Given the description of an element on the screen output the (x, y) to click on. 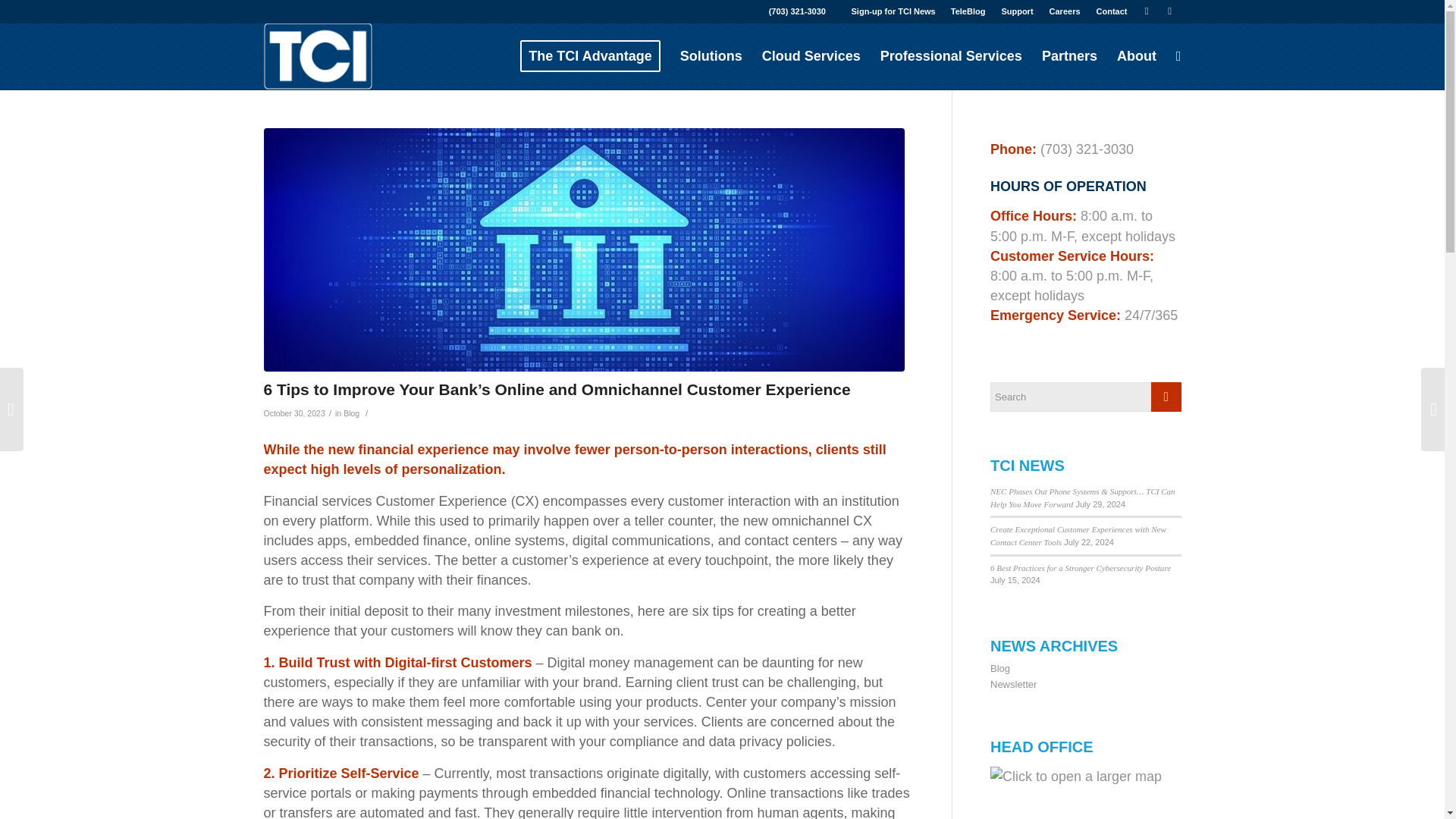
Sign-up for TCI News (893, 10)
Support (1016, 11)
Facebook (1169, 11)
The TCI Advantage (590, 55)
TeleBlog (967, 11)
Professional Services (951, 55)
Careers (1064, 11)
Contact (1111, 11)
Linkedin (1146, 11)
Cloud Services (811, 55)
